Given the description of an element on the screen output the (x, y) to click on. 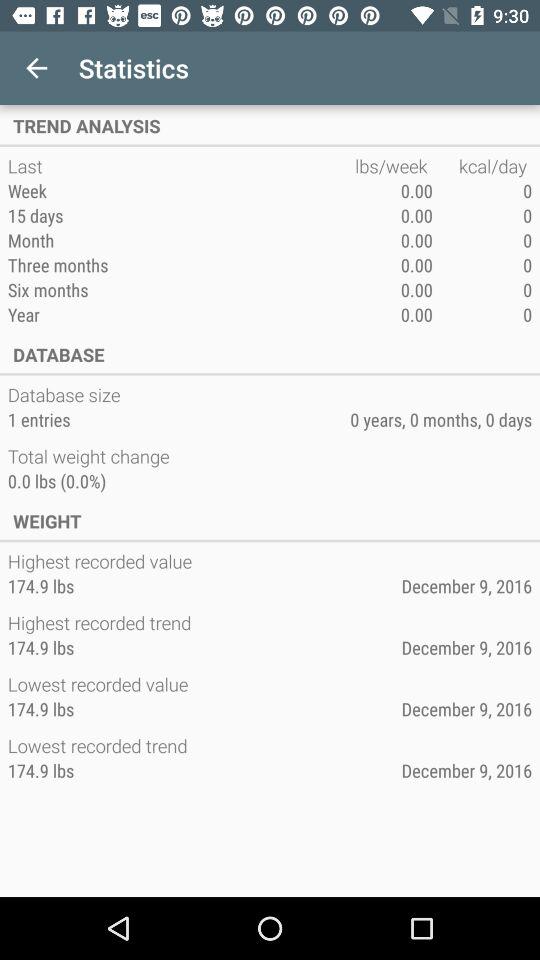
scroll until the six months (181, 289)
